Given the description of an element on the screen output the (x, y) to click on. 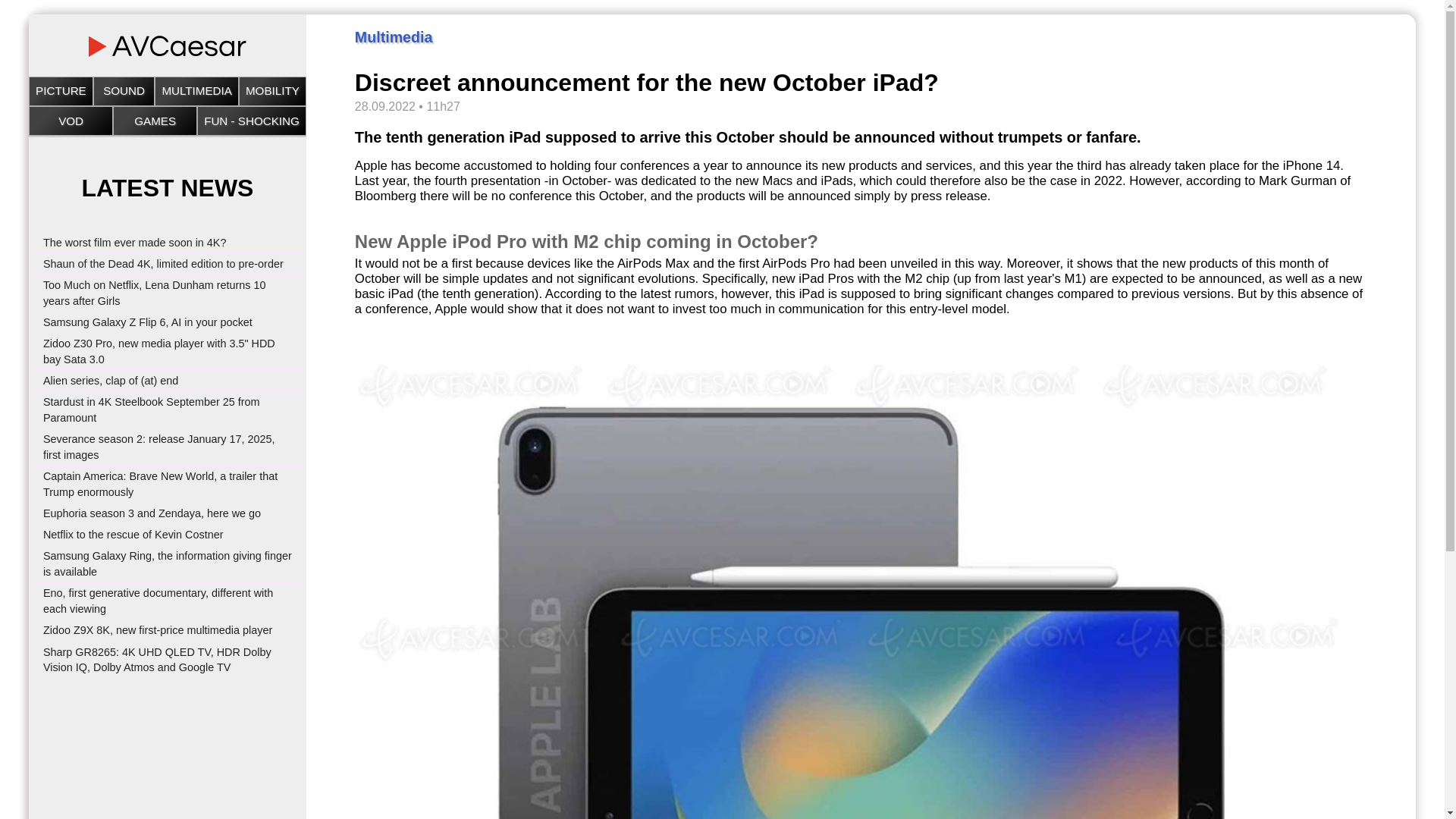
GAMES (154, 121)
Samsung Galaxy Z Flip 6, AI in your pocket (147, 322)
The worst film ever made soon in 4K? (135, 242)
MOBILITY (272, 90)
PICTURE (61, 90)
Zidoo Z9X 8K, new first-price multimedia player (157, 630)
Shaun of the Dead 4K, limited edition to pre-order (163, 263)
Severance season 2: release January 17, 2025, first images (159, 447)
MULTIMEDIA (196, 90)
Stardust in 4K Steelbook September 25 from Paramount (151, 409)
Netflix to the rescue of Kevin Costner (133, 534)
VOD (70, 121)
